Given the description of an element on the screen output the (x, y) to click on. 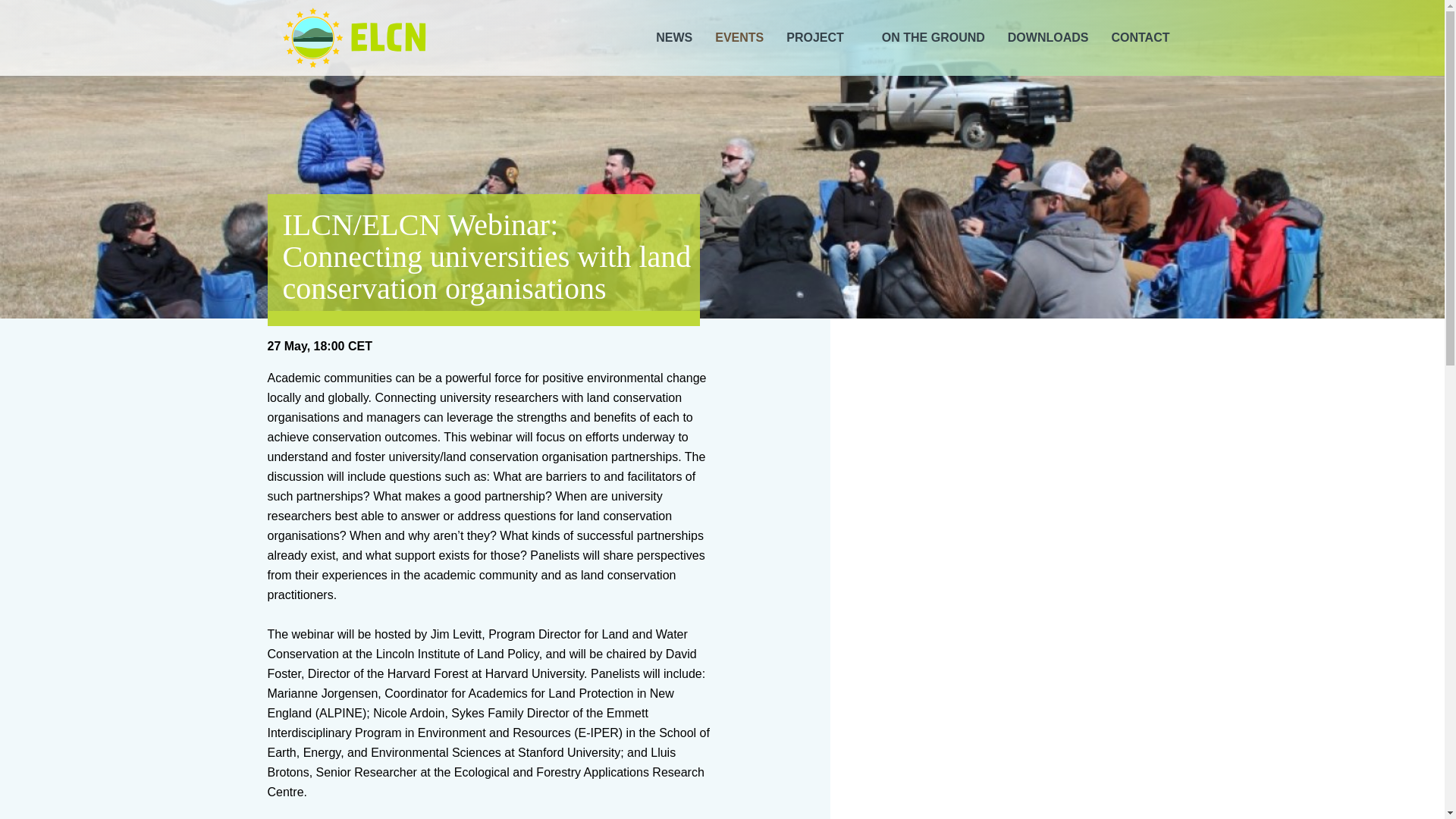
DOWNLOADS (1048, 38)
CONTACT (1139, 38)
PROJECT (822, 38)
ON THE GROUND (933, 38)
